Given the description of an element on the screen output the (x, y) to click on. 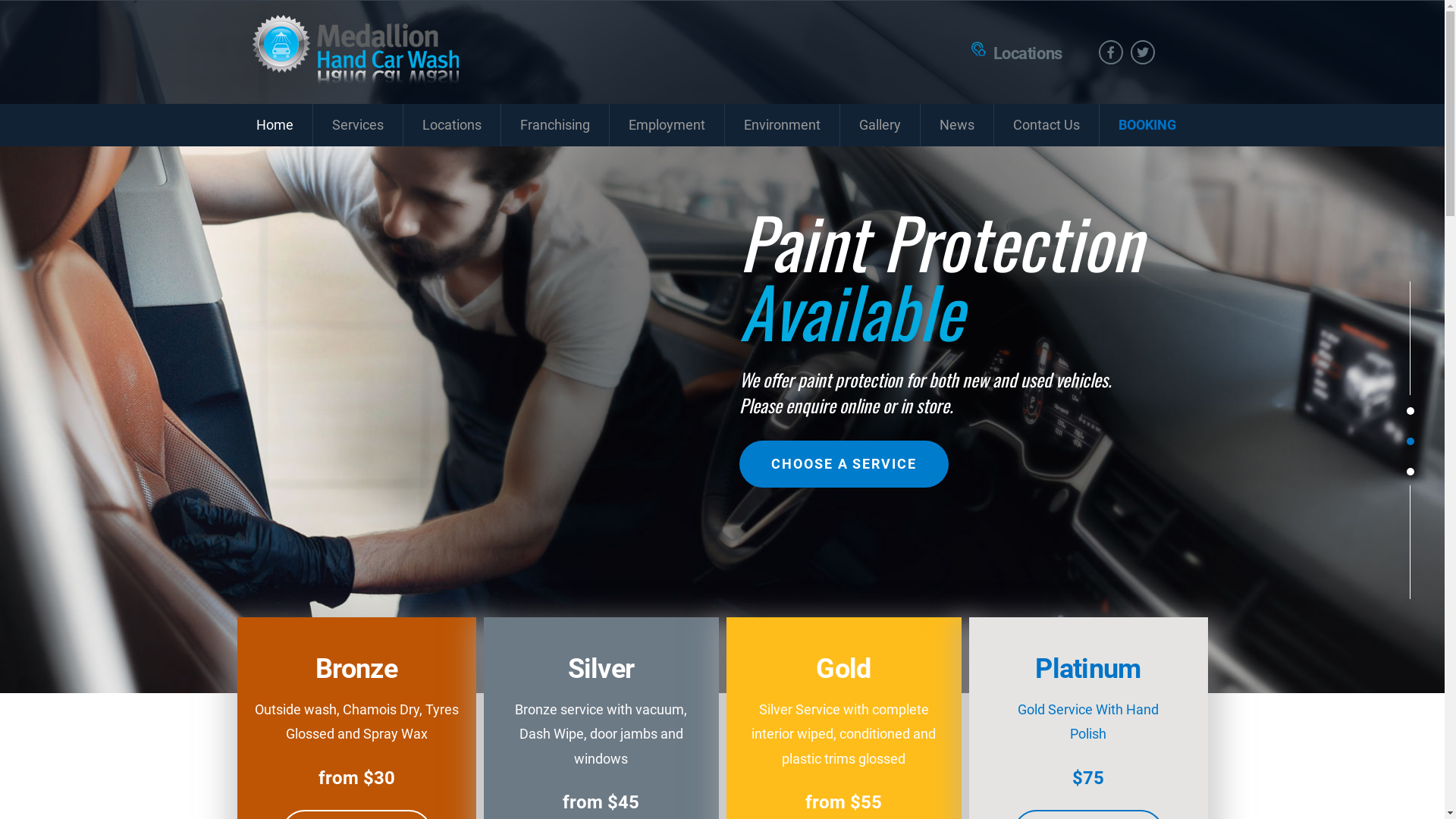
Gallery Element type: text (879, 124)
BOOKING Element type: text (1147, 124)
News Element type: text (956, 124)
Franchising Element type: text (554, 124)
Locations Element type: text (451, 124)
Contact Us Element type: text (1045, 124)
Home Element type: text (273, 124)
Employment Element type: text (666, 124)
Services Element type: text (356, 124)
Environment Element type: text (781, 124)
Locations Element type: text (1027, 52)
